Given the description of an element on the screen output the (x, y) to click on. 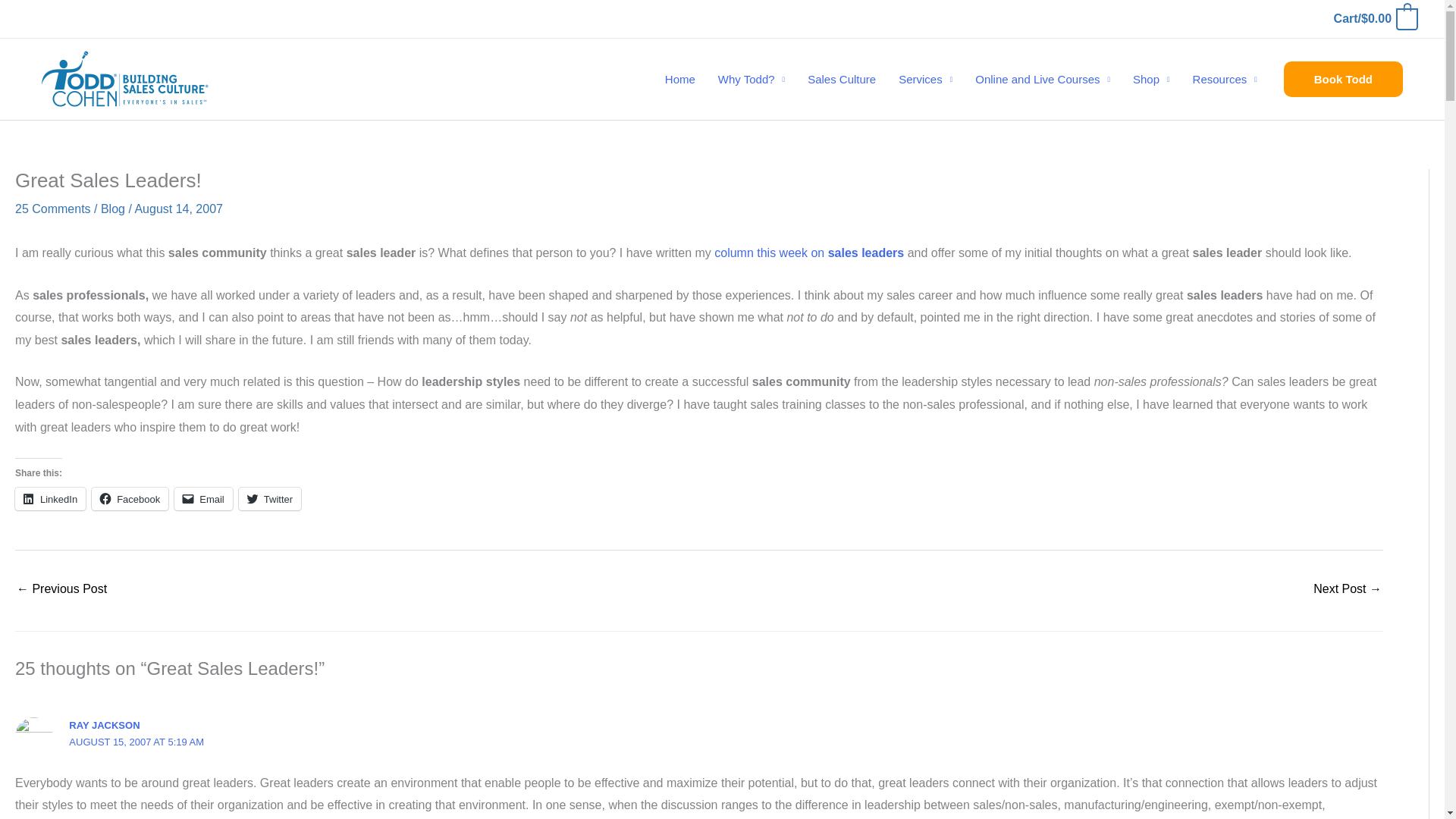
25 Comments (52, 208)
Click to share on Twitter (269, 498)
Book Todd (1343, 79)
Home (679, 79)
Sales Culture (841, 79)
Shop (1150, 79)
Resources (1224, 79)
Services (924, 79)
Why Todd? (751, 79)
Blog (112, 208)
